Given the description of an element on the screen output the (x, y) to click on. 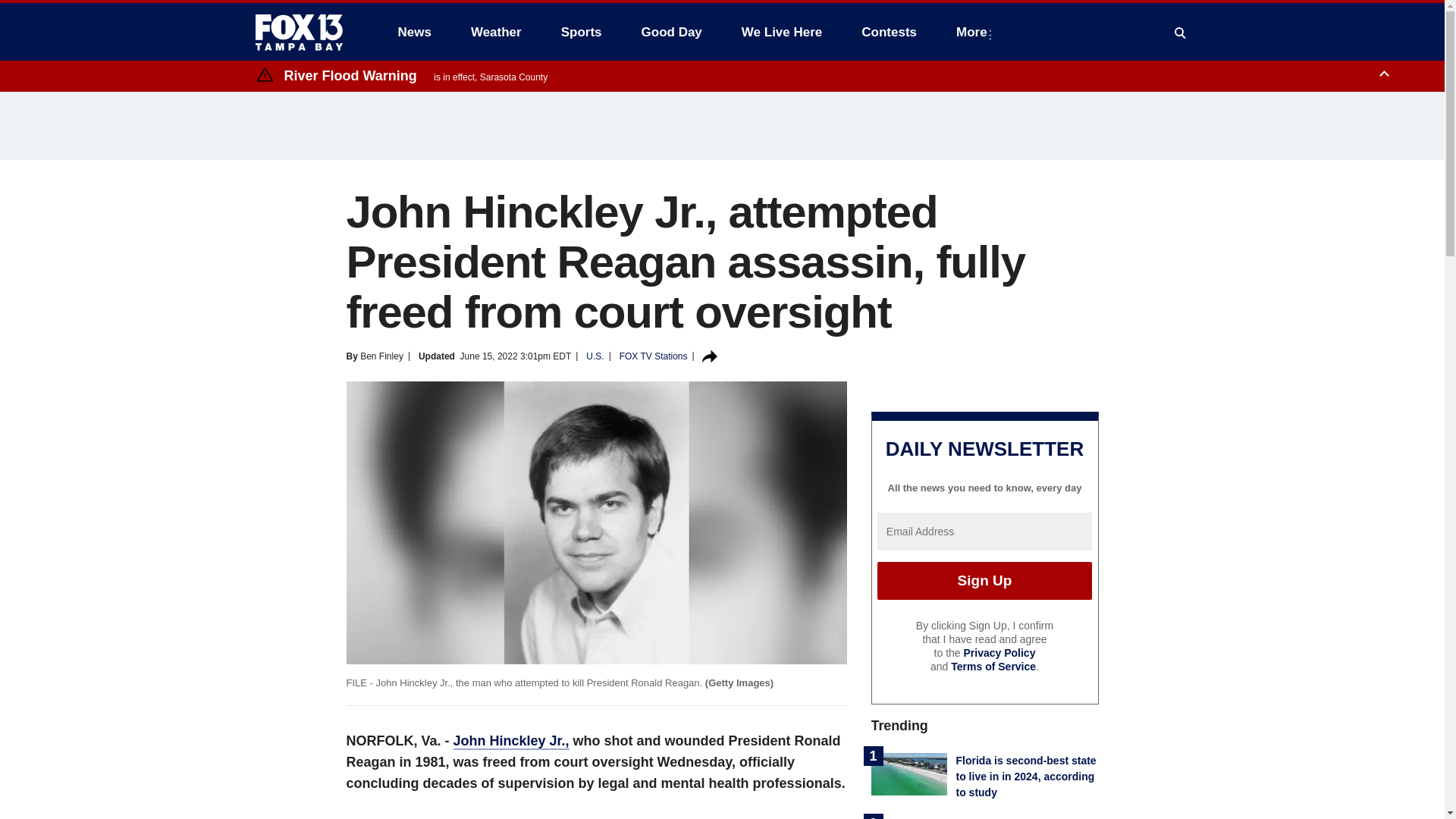
Sports (581, 32)
Good Day (671, 32)
News (413, 32)
Sign Up (984, 580)
Contests (888, 32)
More (974, 32)
Weather (496, 32)
We Live Here (781, 32)
